Given the description of an element on the screen output the (x, y) to click on. 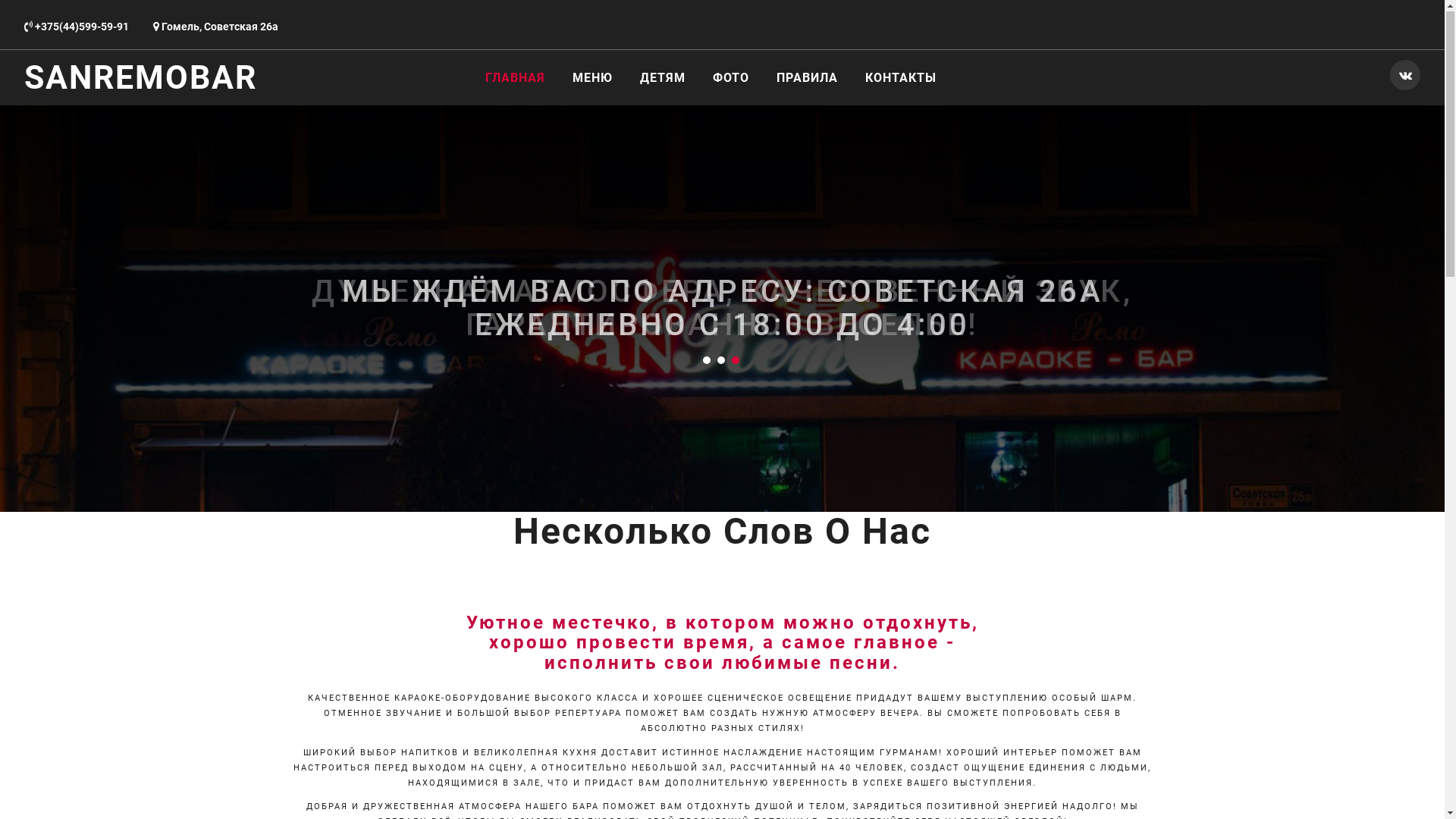
SANREMOBAR Element type: text (140, 78)
